Given the description of an element on the screen output the (x, y) to click on. 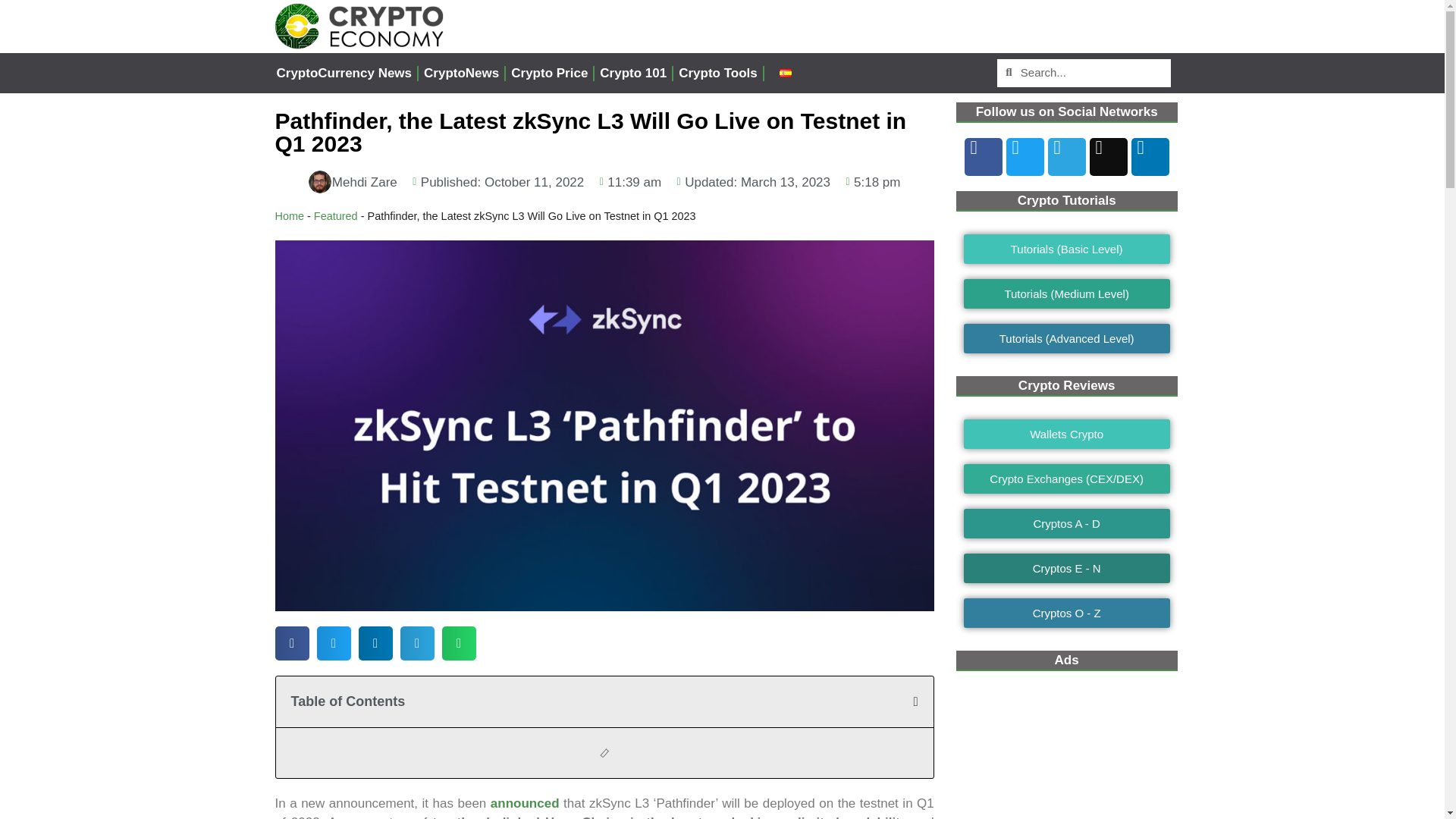
Crypto 101 (632, 72)
CryptoCurrency News (343, 72)
CryptoNews (461, 72)
Crypto Price (548, 72)
